Given the description of an element on the screen output the (x, y) to click on. 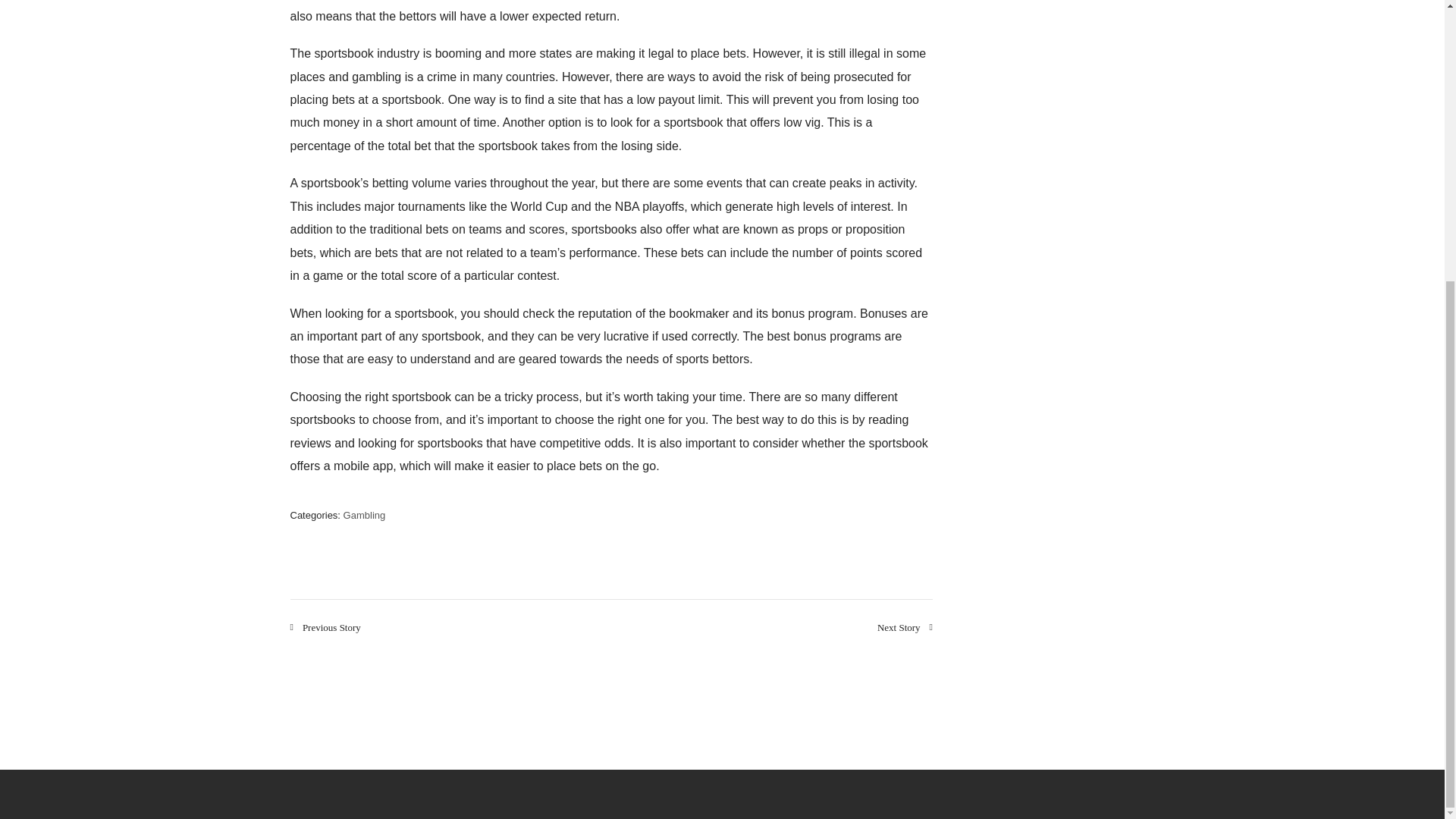
Gambling (364, 514)
Previous Story (324, 627)
Next Story (905, 627)
